Given the description of an element on the screen output the (x, y) to click on. 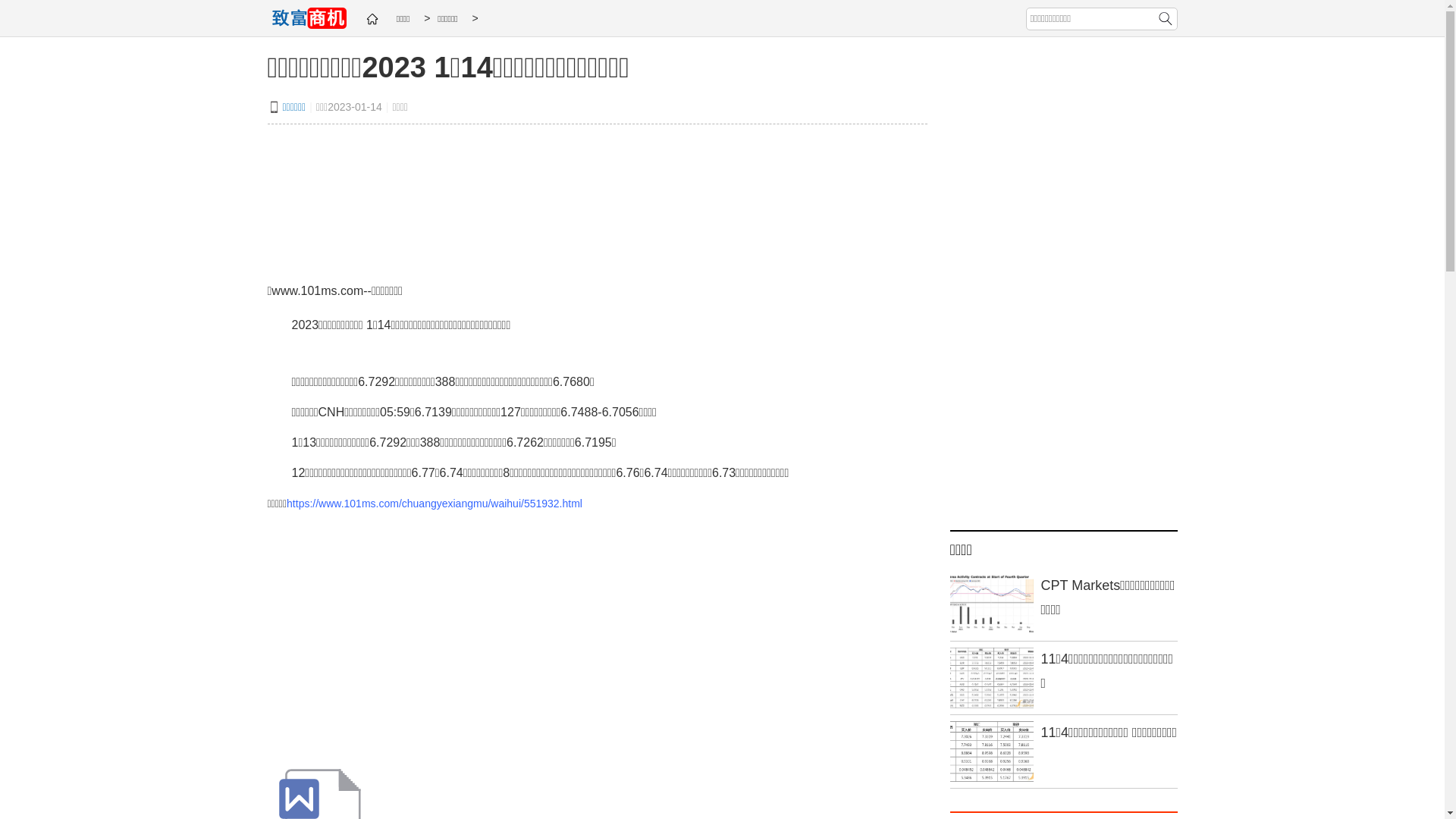
Advertisement Element type: hover (1062, 290)
https://www.101ms.com/chuangyexiangmu/waihui/551932.html Element type: text (434, 503)
Advertisement Element type: hover (596, 639)
Advertisement Element type: hover (596, 200)
